Given the description of an element on the screen output the (x, y) to click on. 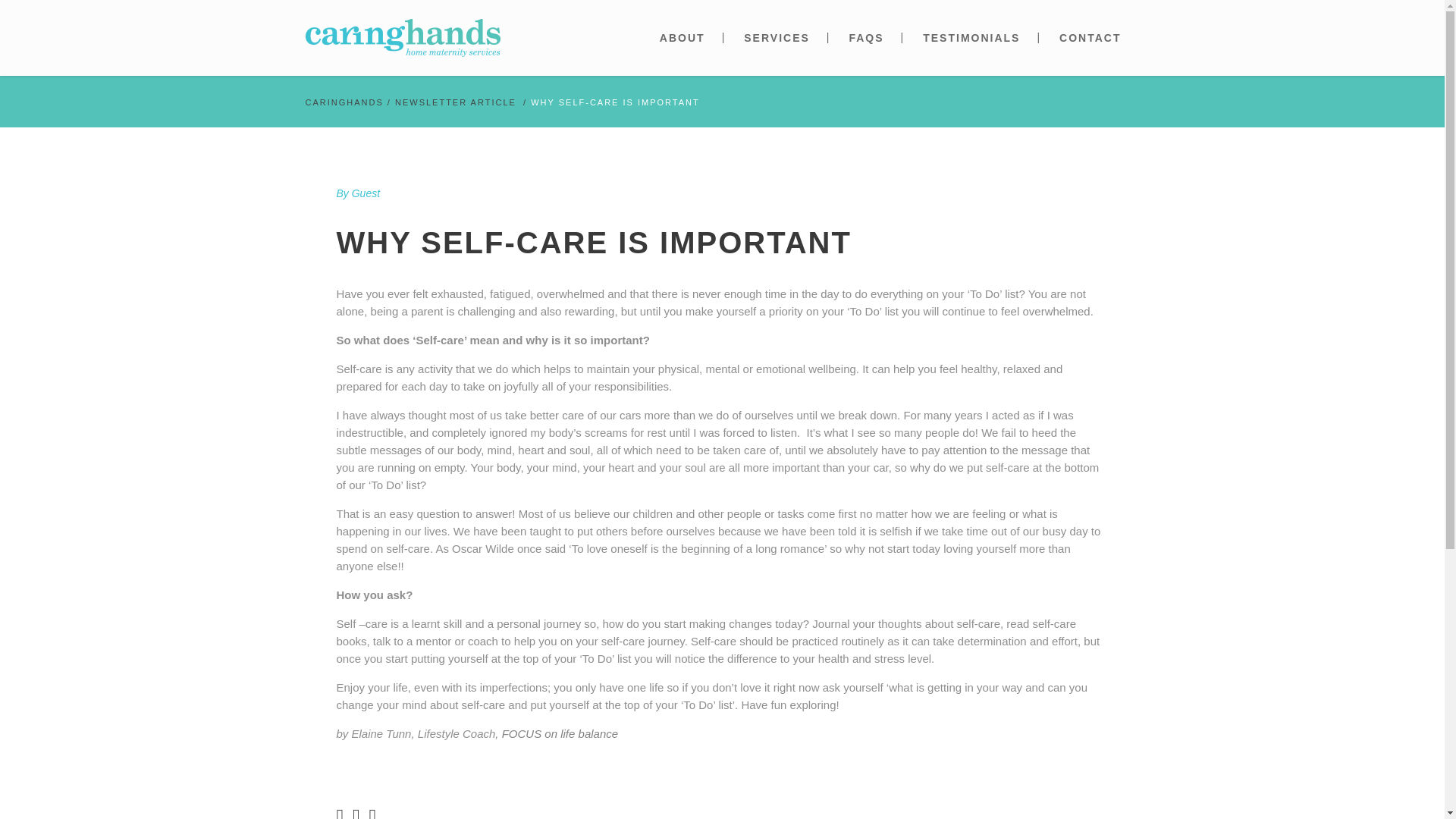
NEWSLETTER ARTICLE (455, 102)
FAQS (865, 38)
Guest (366, 193)
CARINGHANDS (343, 102)
TESTIMONIALS (971, 38)
CONTACT (1089, 38)
SERVICES (776, 38)
FOCUS on life balance (559, 733)
ABOUT (682, 38)
